Given the description of an element on the screen output the (x, y) to click on. 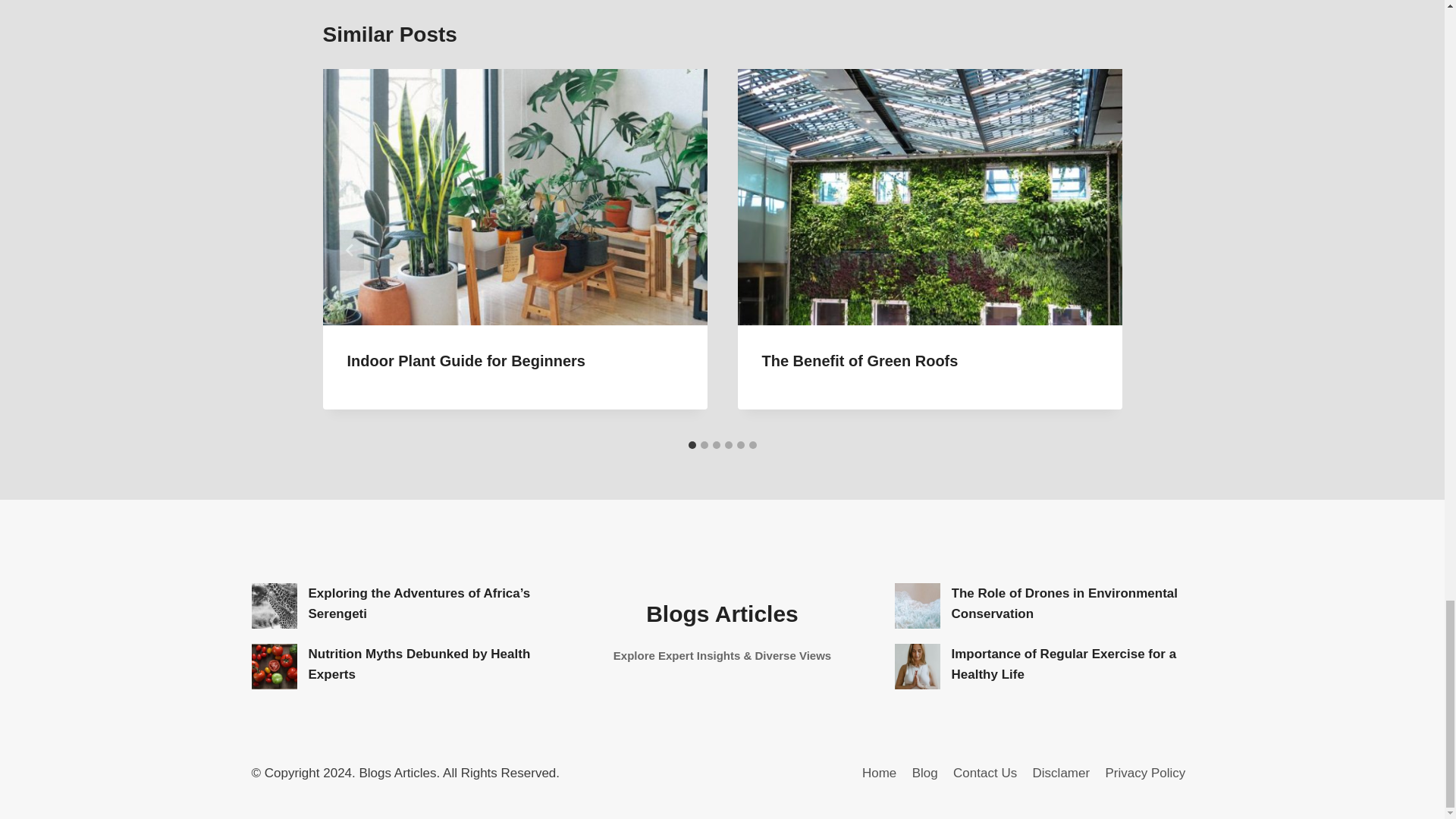
Importance of Regular Exercise for a Healthy Life (917, 666)
Indoor Plant Guide for Beginners (466, 360)
The Role of Drones in Environmental Conservation (917, 605)
Nutrition Myths Debunked by Health Experts (274, 666)
The Benefit of Green Roofs (859, 360)
